Given the description of an element on the screen output the (x, y) to click on. 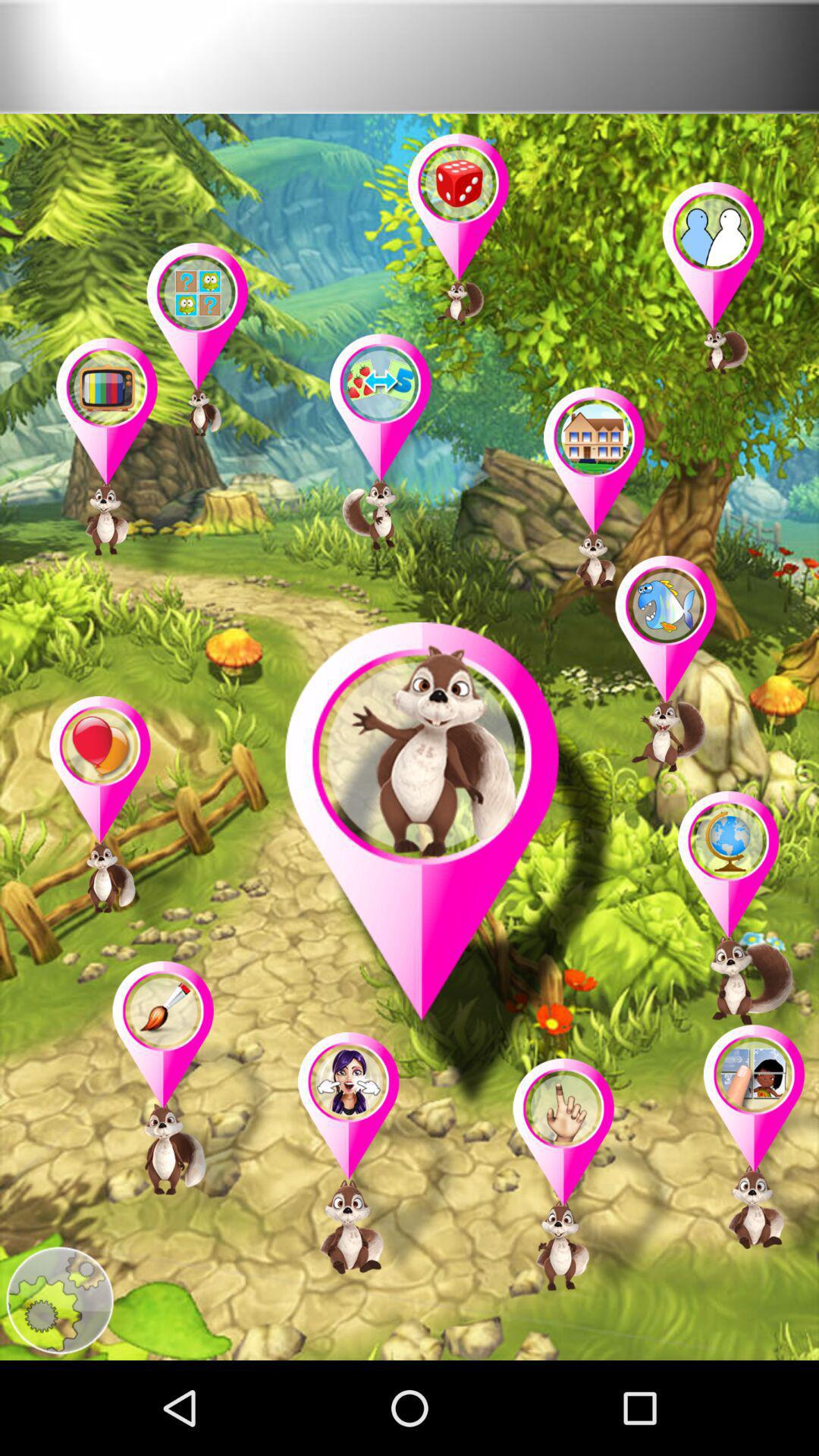
ask james about fish (697, 680)
